Given the description of an element on the screen output the (x, y) to click on. 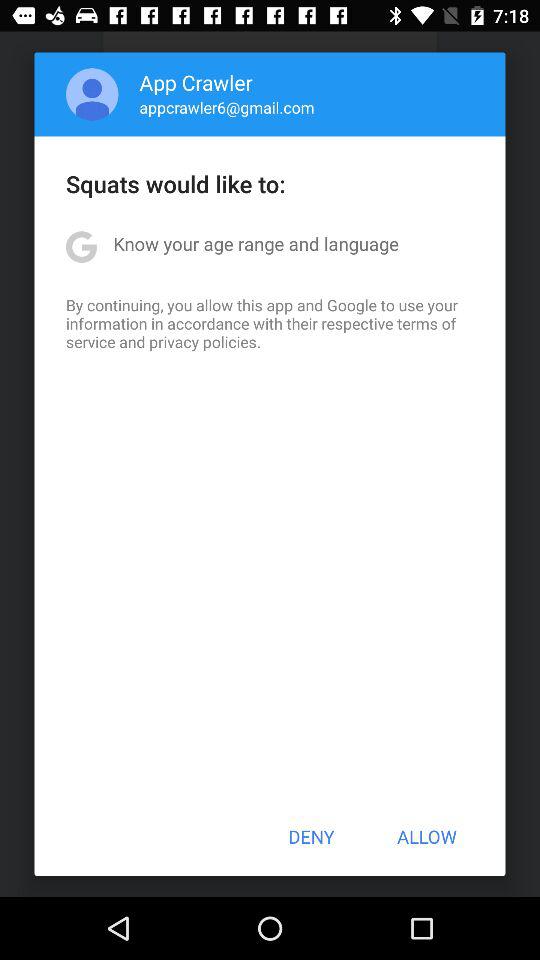
turn off the app below the by continuing you (311, 836)
